Given the description of an element on the screen output the (x, y) to click on. 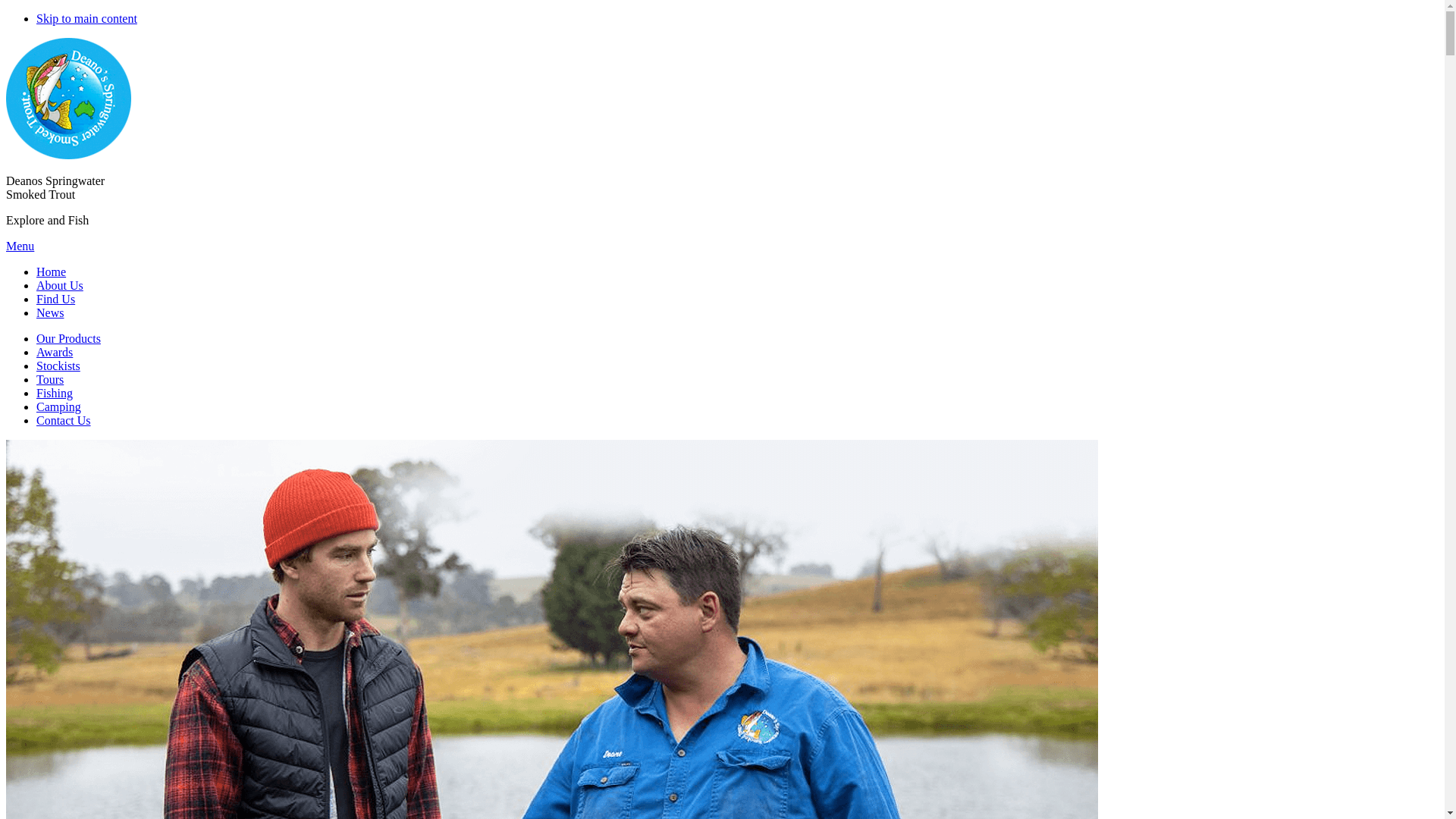
Our Products Element type: text (68, 338)
Menu Element type: text (20, 245)
News Element type: text (49, 312)
Skip to main content Element type: text (86, 18)
Awards Element type: text (54, 351)
About Us Element type: text (59, 285)
Fishing Element type: text (54, 392)
Tours Element type: text (49, 379)
Camping Element type: text (58, 406)
Find Us Element type: text (55, 298)
Contact Us Element type: text (63, 420)
Stockists Element type: text (58, 365)
Home Element type: text (50, 271)
